Given the description of an element on the screen output the (x, y) to click on. 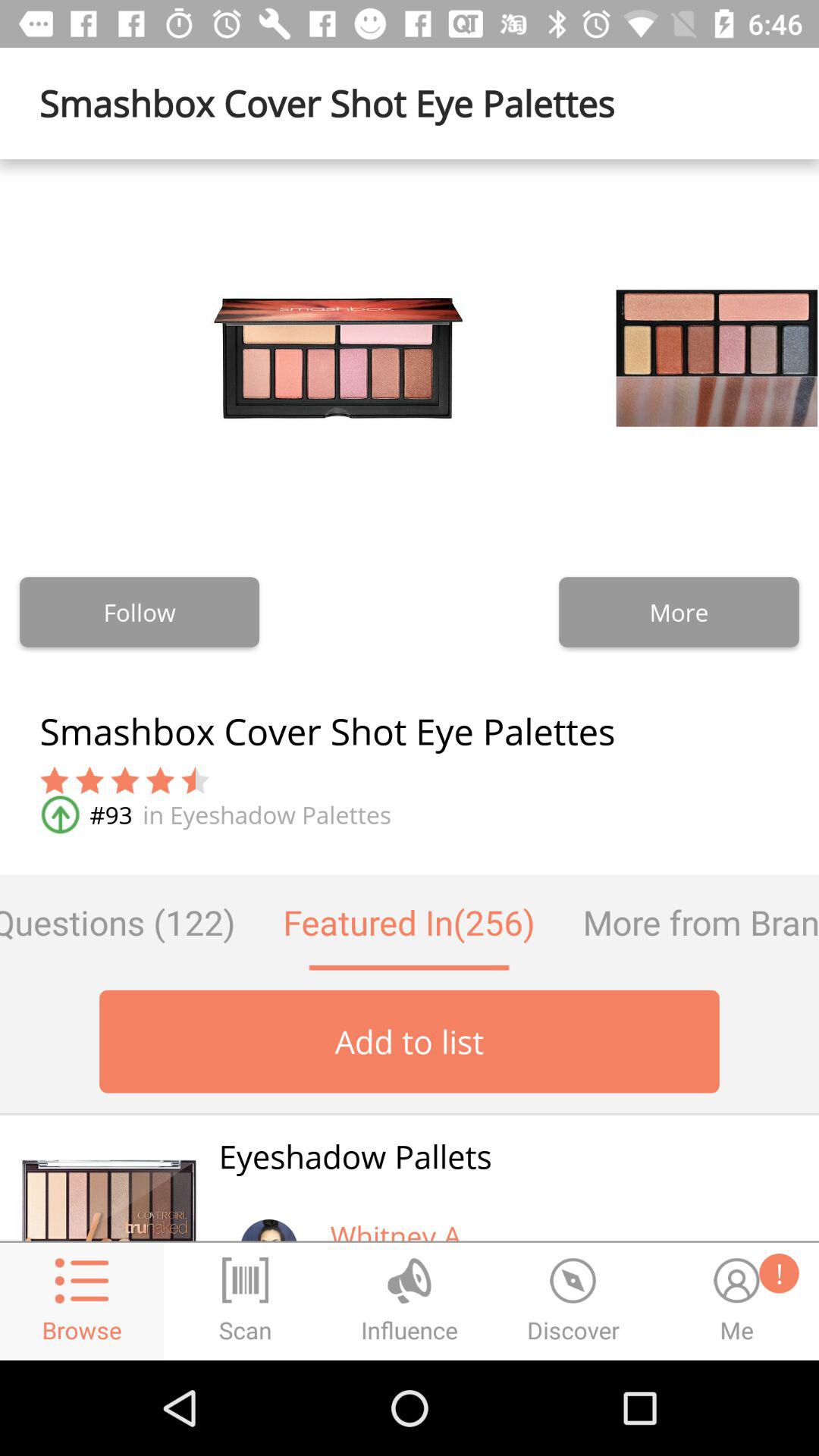
choose the item above add to list icon (129, 922)
